Given the description of an element on the screen output the (x, y) to click on. 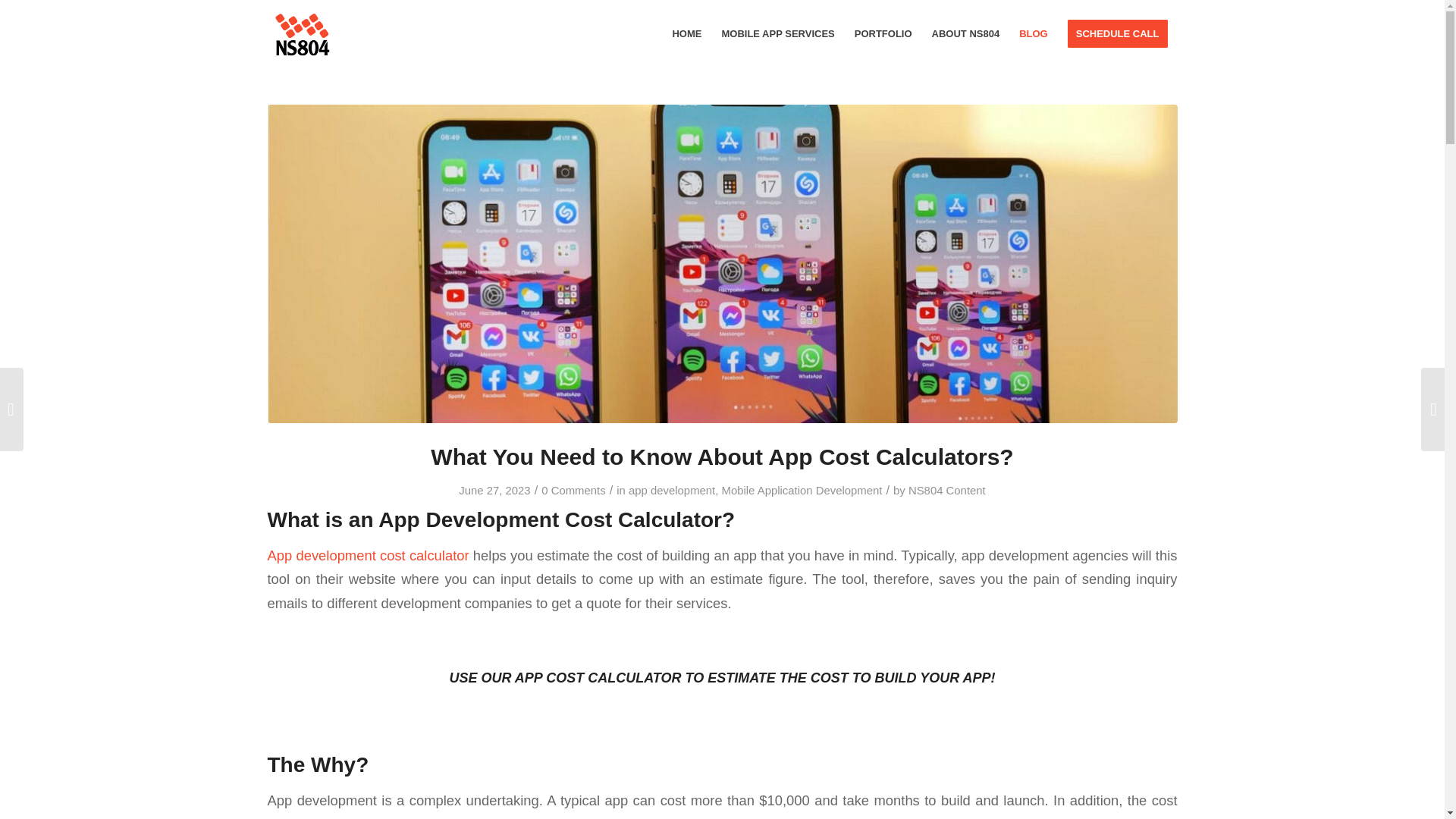
Mobile Application Development (802, 490)
Posts by NS804 Content (946, 490)
MOBILE APP SERVICES (777, 33)
PORTFOLIO (882, 33)
App development cost calculator (367, 555)
SCHEDULE CALL (1117, 33)
0 Comments (573, 490)
app development (671, 490)
ABOUT NS804 (965, 33)
ns804logo-nav (300, 33)
NS804 Content (946, 490)
